Given the description of an element on the screen output the (x, y) to click on. 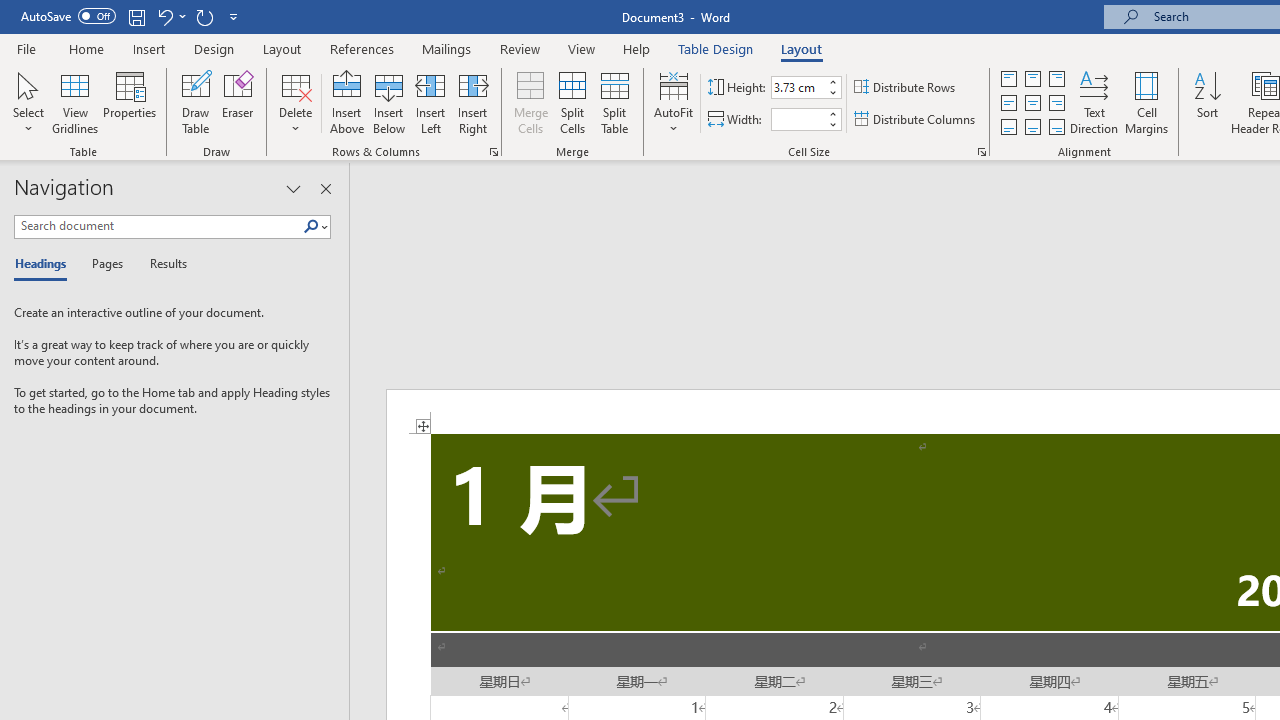
Split Table (614, 102)
Distribute Columns (916, 119)
More (832, 113)
Merge Cells (530, 102)
